Given the description of an element on the screen output the (x, y) to click on. 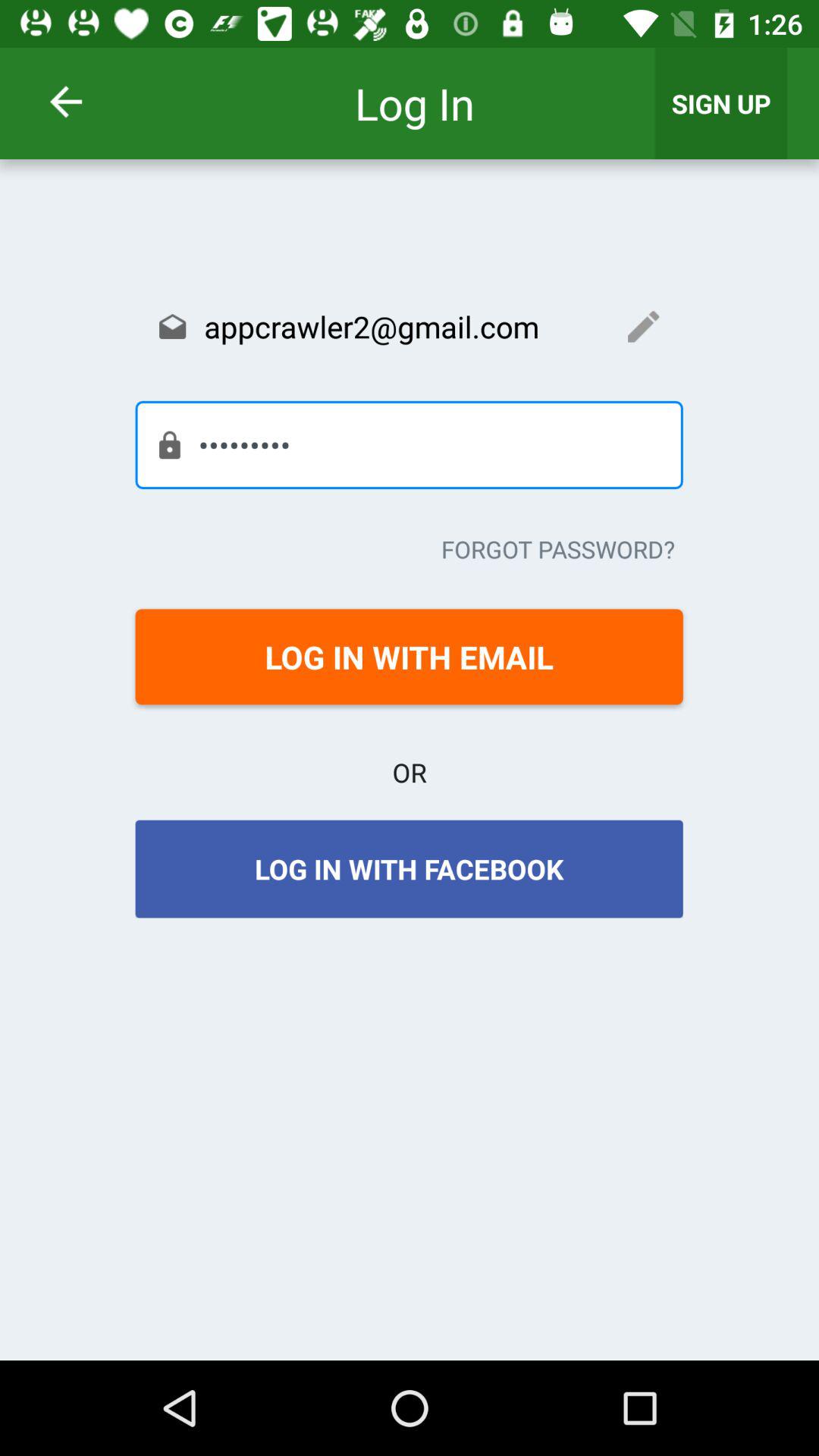
select the icon above the appcrawler2@gmail.com item (721, 103)
